Given the description of an element on the screen output the (x, y) to click on. 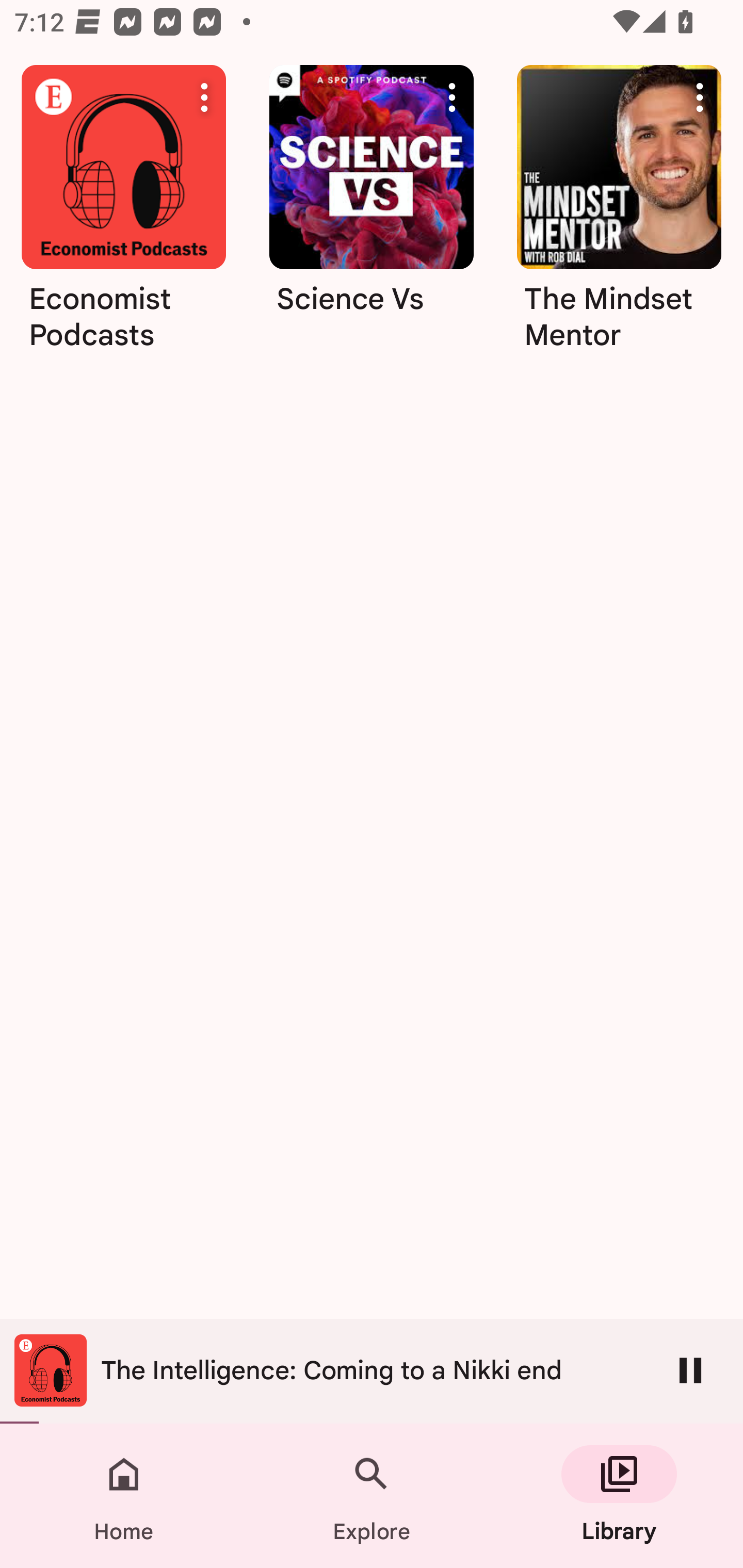
Economist Podcasts More actions Economist Podcasts (123, 214)
Science Vs More actions Science Vs (371, 214)
The Mindset Mentor More actions The Mindset Mentor (619, 214)
More actions (203, 97)
More actions (452, 97)
More actions (699, 97)
Pause (690, 1370)
Home (123, 1495)
Explore (371, 1495)
